Given the description of an element on the screen output the (x, y) to click on. 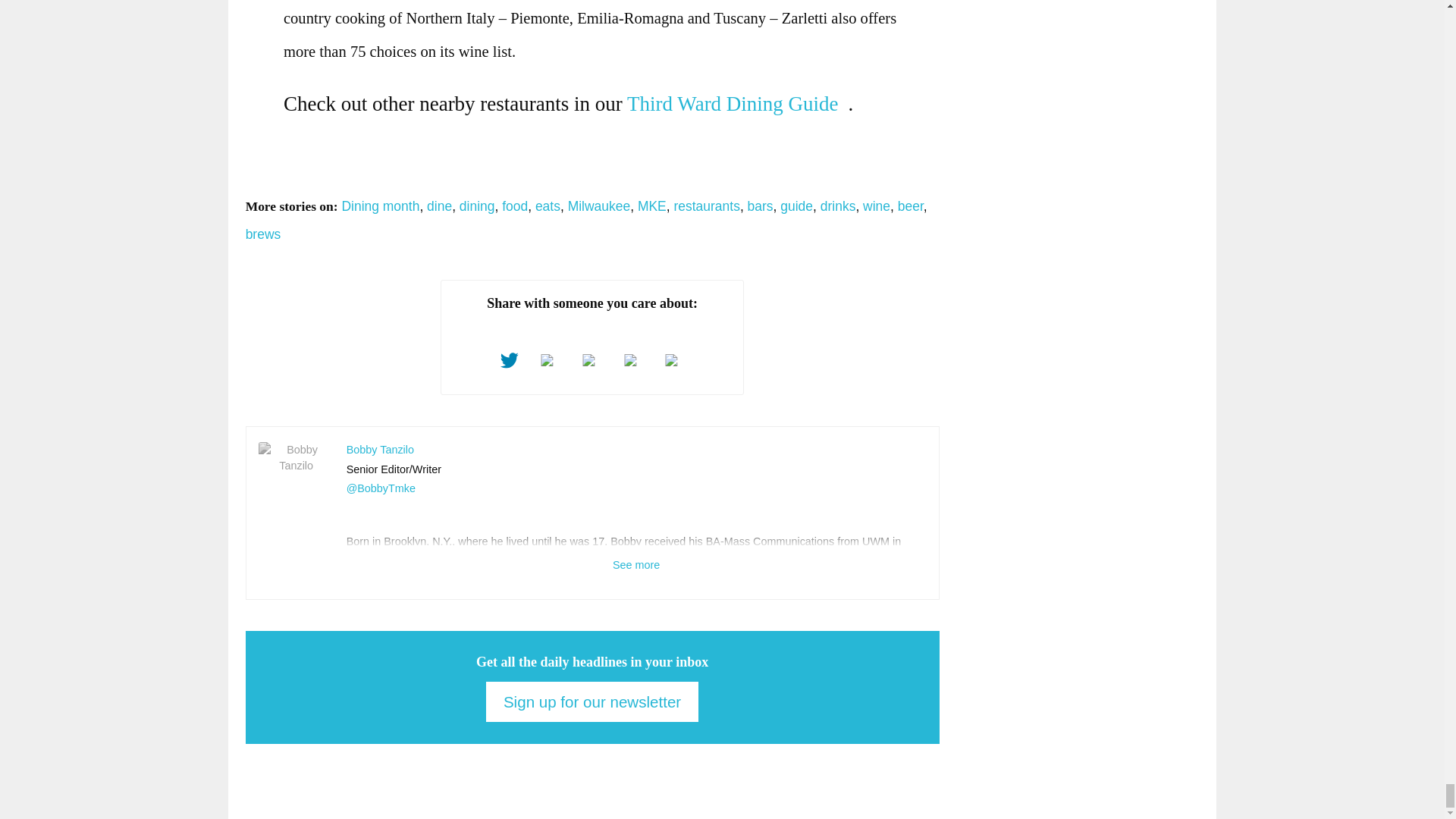
Share "Downtown dining guide" on LinkedIn (633, 360)
More articles by Bobby Tanzilo (379, 449)
Share "Downtown dining guide" on Tumblr (591, 360)
Share "Downtown dining guide" on Twitter (509, 360)
Share "Downtown dining guide" on Facebook (550, 360)
Bobby Tanzilo (296, 457)
Share "Downtown dining guide" via email (674, 360)
